Given the description of an element on the screen output the (x, y) to click on. 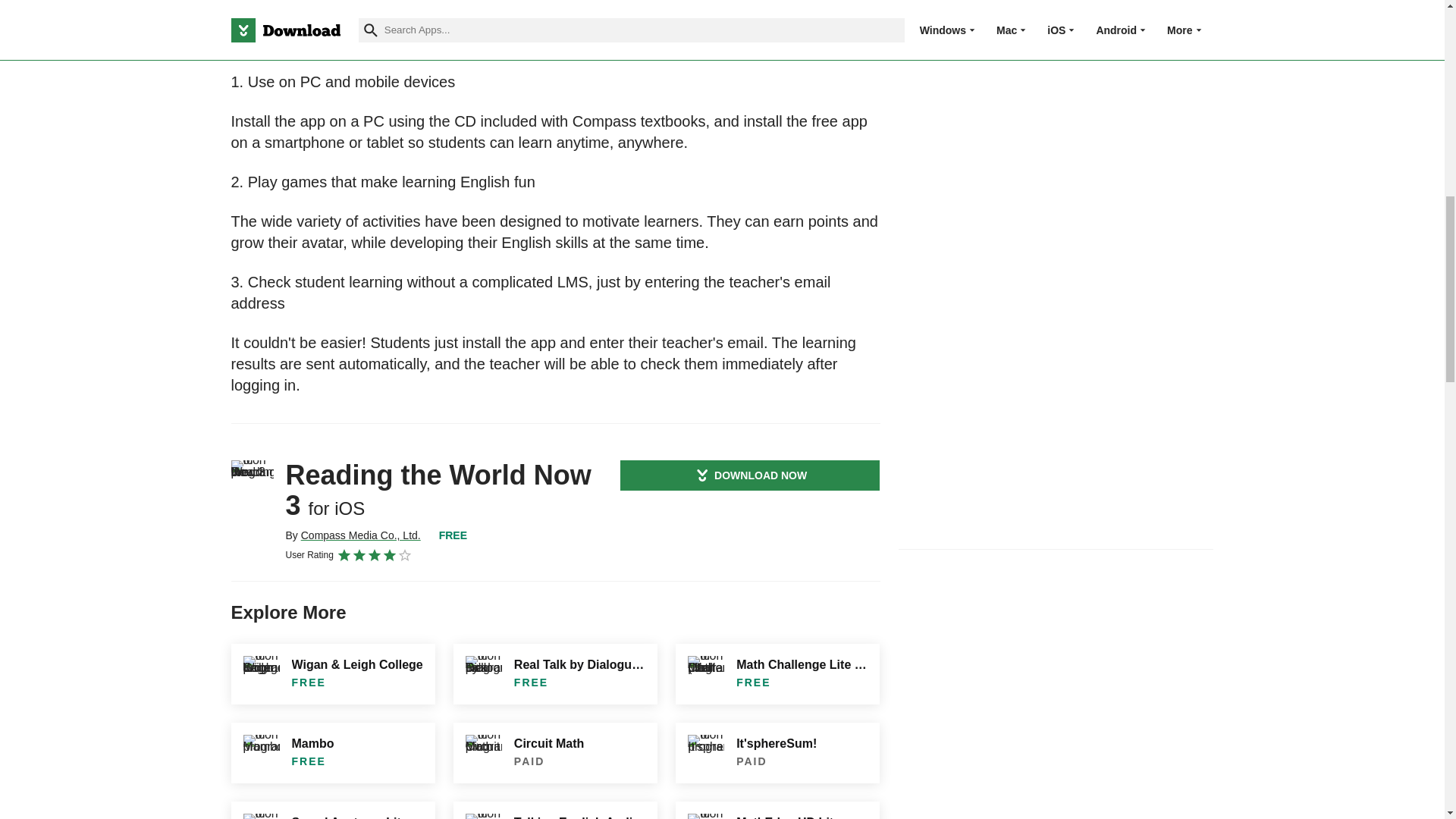
Circuit Math (555, 752)
Talking English Audio Keyboard (555, 810)
Mambo (331, 752)
Real Talk by DialogueWORKS (555, 673)
MathEdge HD Lite: Addition (777, 810)
It'sphereSum! (777, 752)
Reading the World Now 3 for iOS (251, 481)
